Given the description of an element on the screen output the (x, y) to click on. 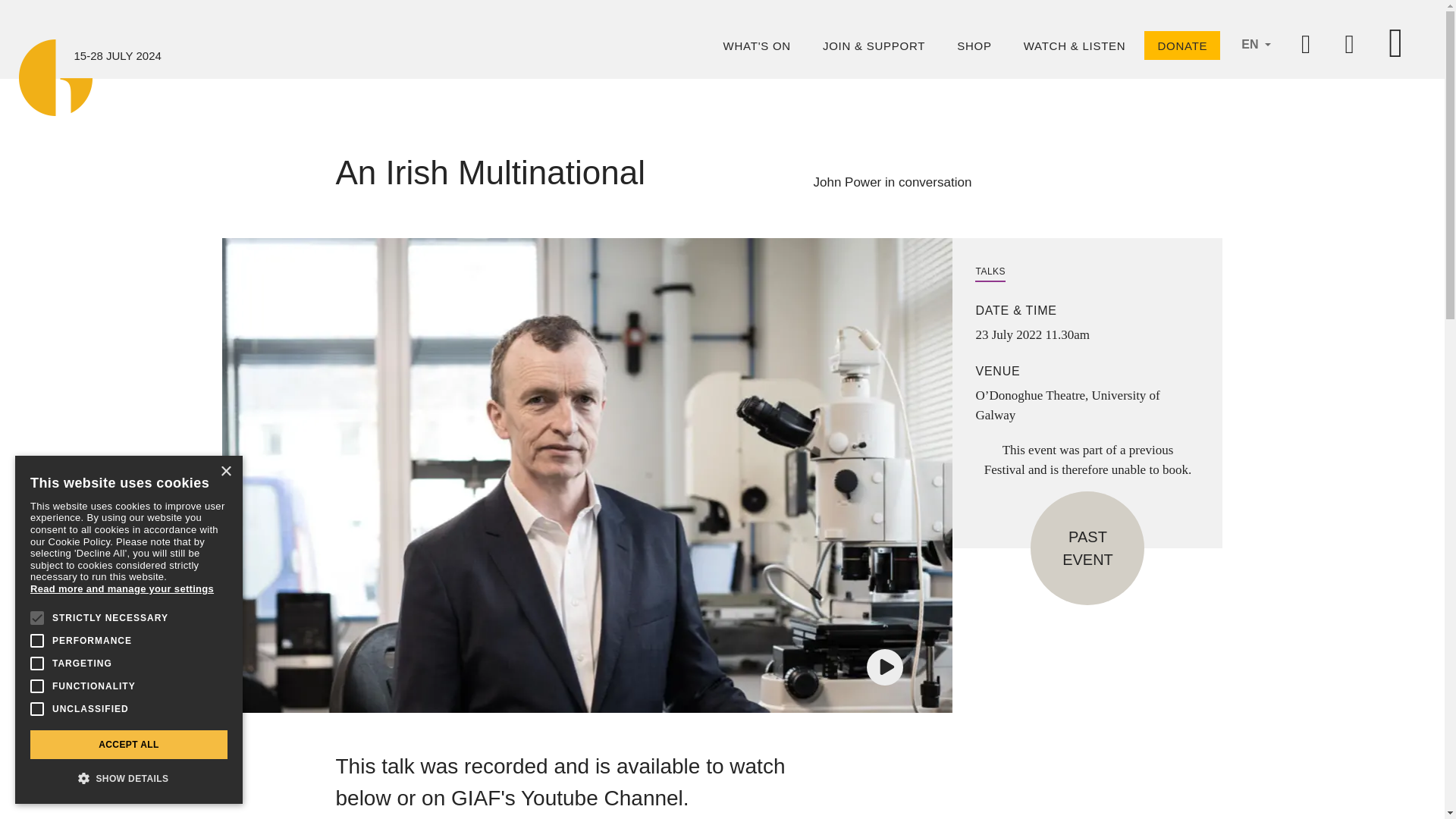
Search (1350, 48)
